Given the description of an element on the screen output the (x, y) to click on. 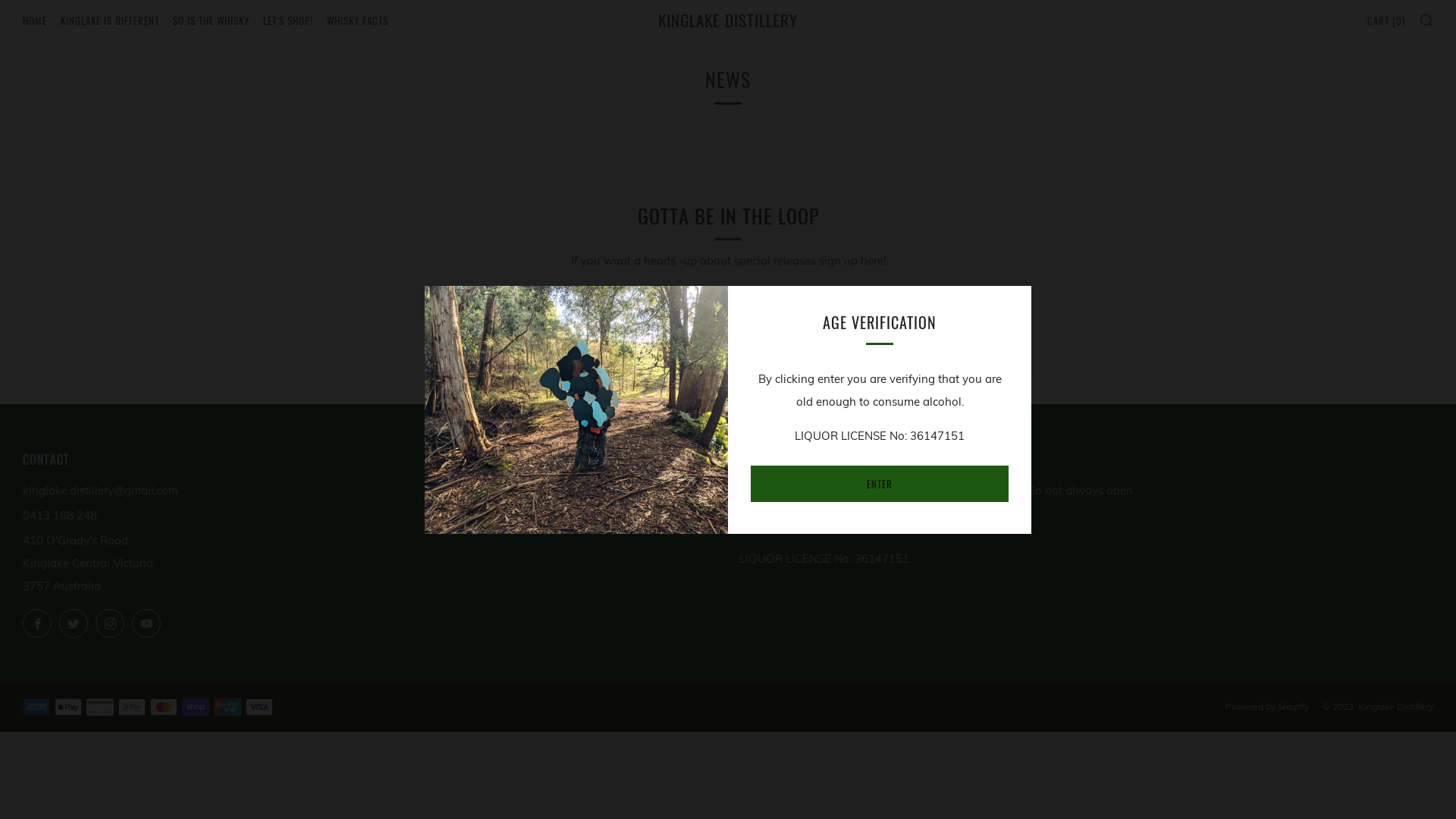
here Element type: text (912, 524)
HOME Element type: text (34, 19)
SO IS THE WHISKY Element type: text (210, 19)
WHISKY FACTS Element type: text (357, 19)
kinglake.distillery@gmail.com Element type: text (100, 490)
KINGLAKE DISTILLERY Element type: text (727, 20)
YouTube Element type: text (145, 622)
LET'S SHOP! Element type: text (288, 19)
Powered by Shopify Element type: text (1266, 706)
CART (0) Element type: text (1386, 19)
Facebook Element type: text (36, 622)
SEARCH Element type: text (1425, 18)
SUBSCRIBE Element type: text (910, 308)
0413 188 248 Element type: text (59, 515)
ENTER Element type: text (879, 483)
Instagram Element type: text (109, 622)
Twitter Element type: text (73, 622)
KINGLAKE IS DIFFERENT Element type: text (109, 19)
